Given the description of an element on the screen output the (x, y) to click on. 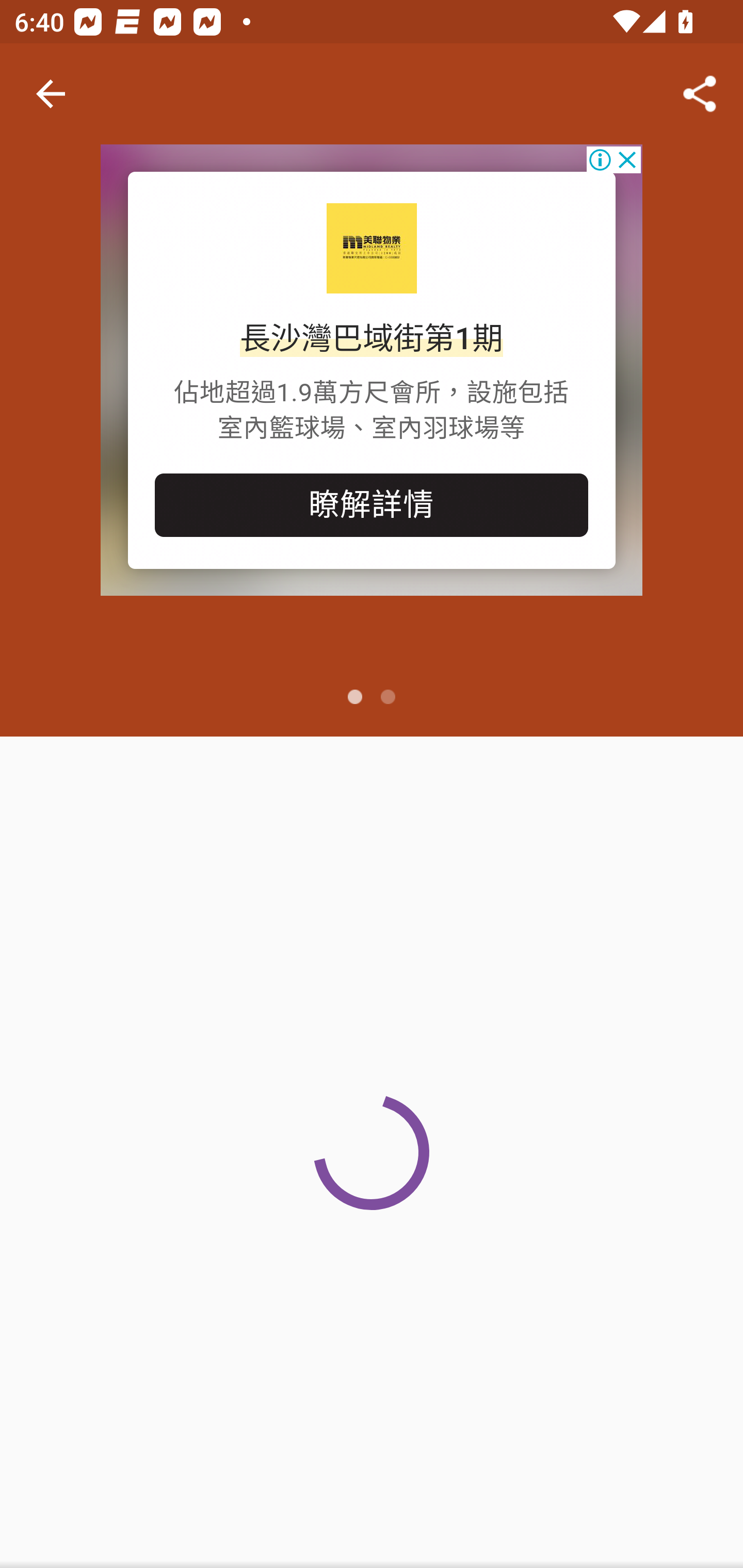
Navigate up (50, 93)
Share... (699, 93)
長沙灣巴域街第1期 (371, 338)
瞭解詳情 (371, 505)
